Given the description of an element on the screen output the (x, y) to click on. 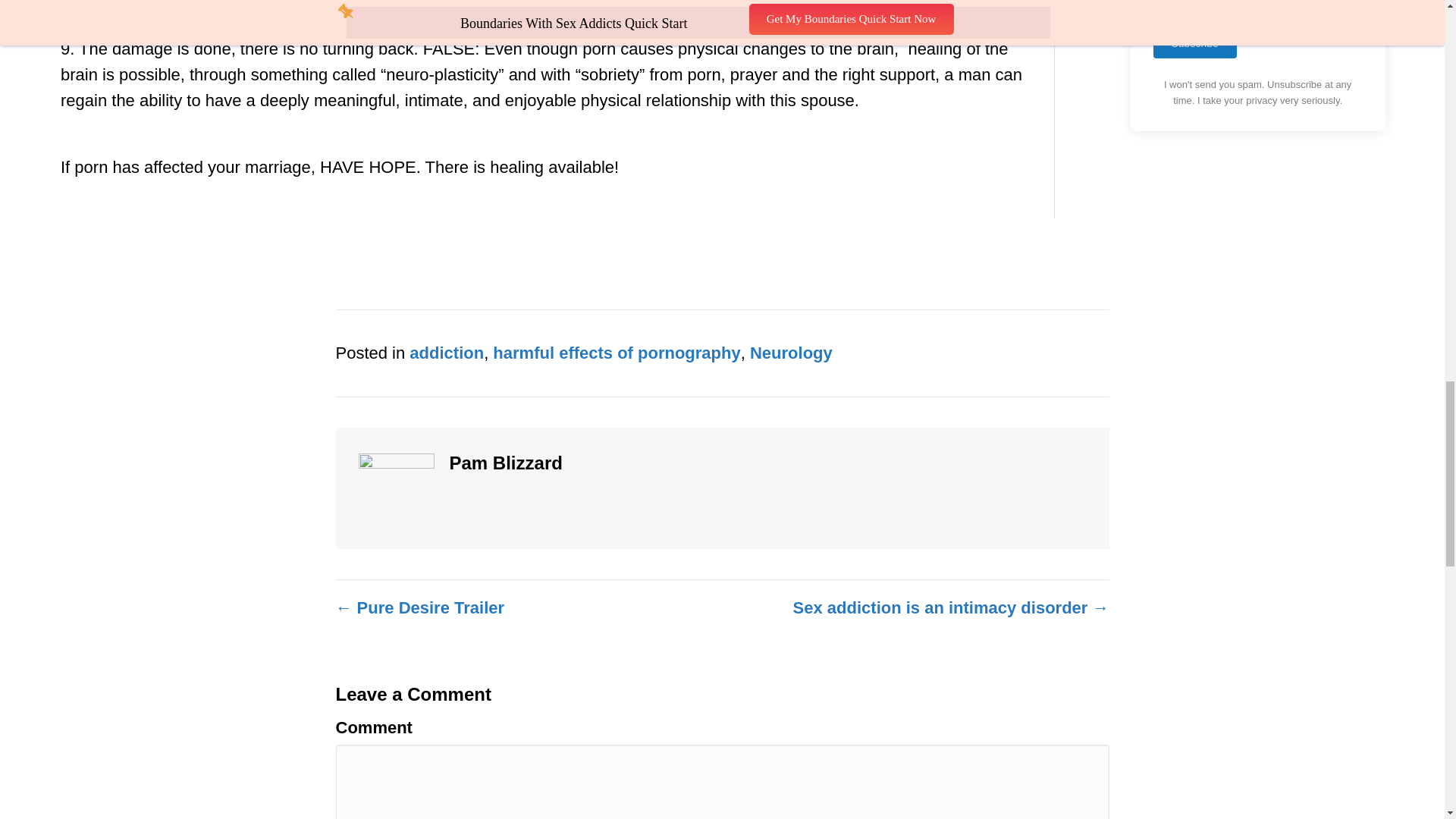
addiction (446, 352)
harmful effects of pornography (616, 352)
Subscribe (1194, 42)
Neurology (790, 352)
